Given the description of an element on the screen output the (x, y) to click on. 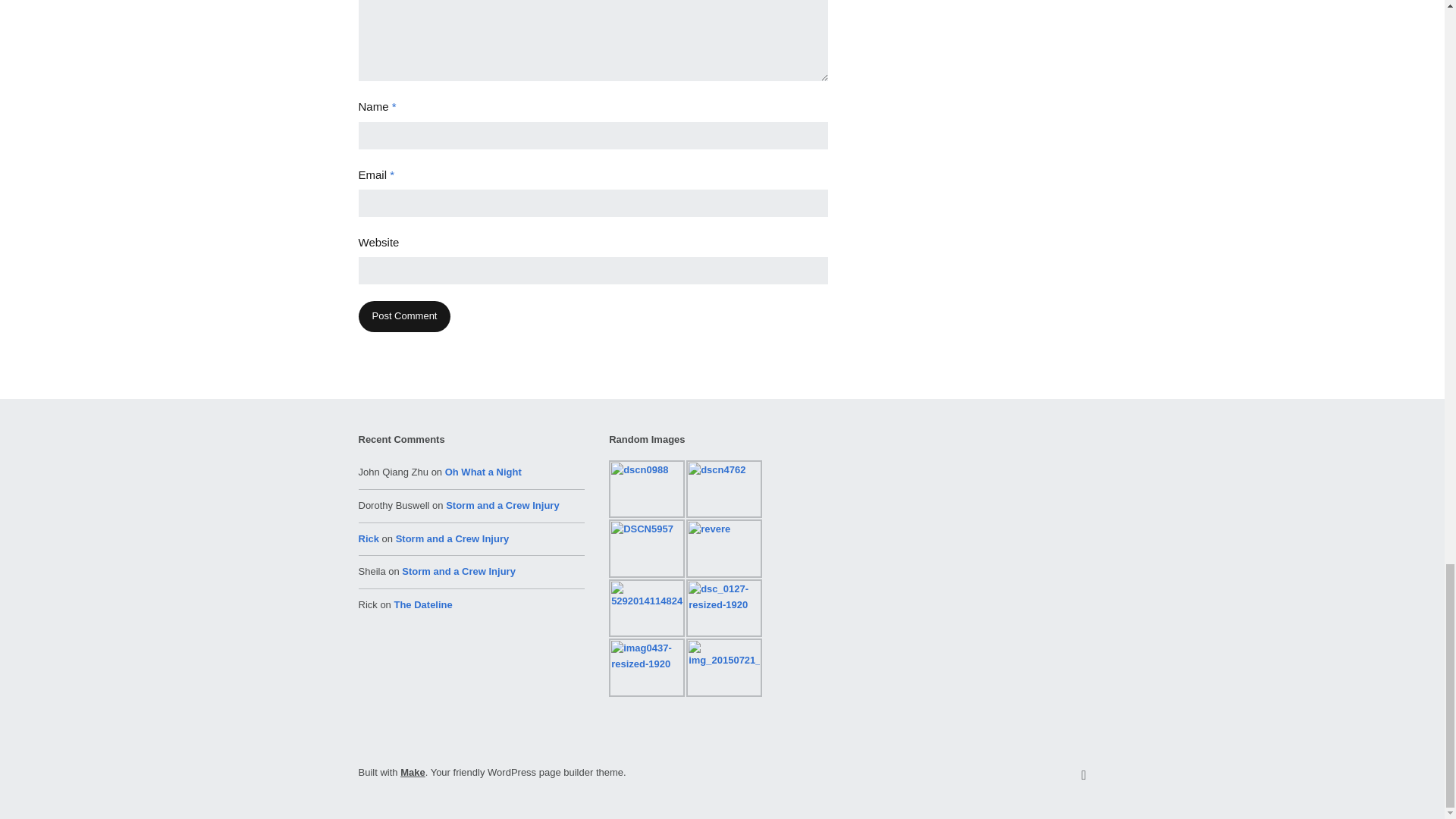
revere (723, 548)
dscn4762 (723, 489)
DSCN5957 (646, 548)
5292014114824 (646, 608)
dscn0988 (646, 489)
Post Comment (403, 316)
